Given the description of an element on the screen output the (x, y) to click on. 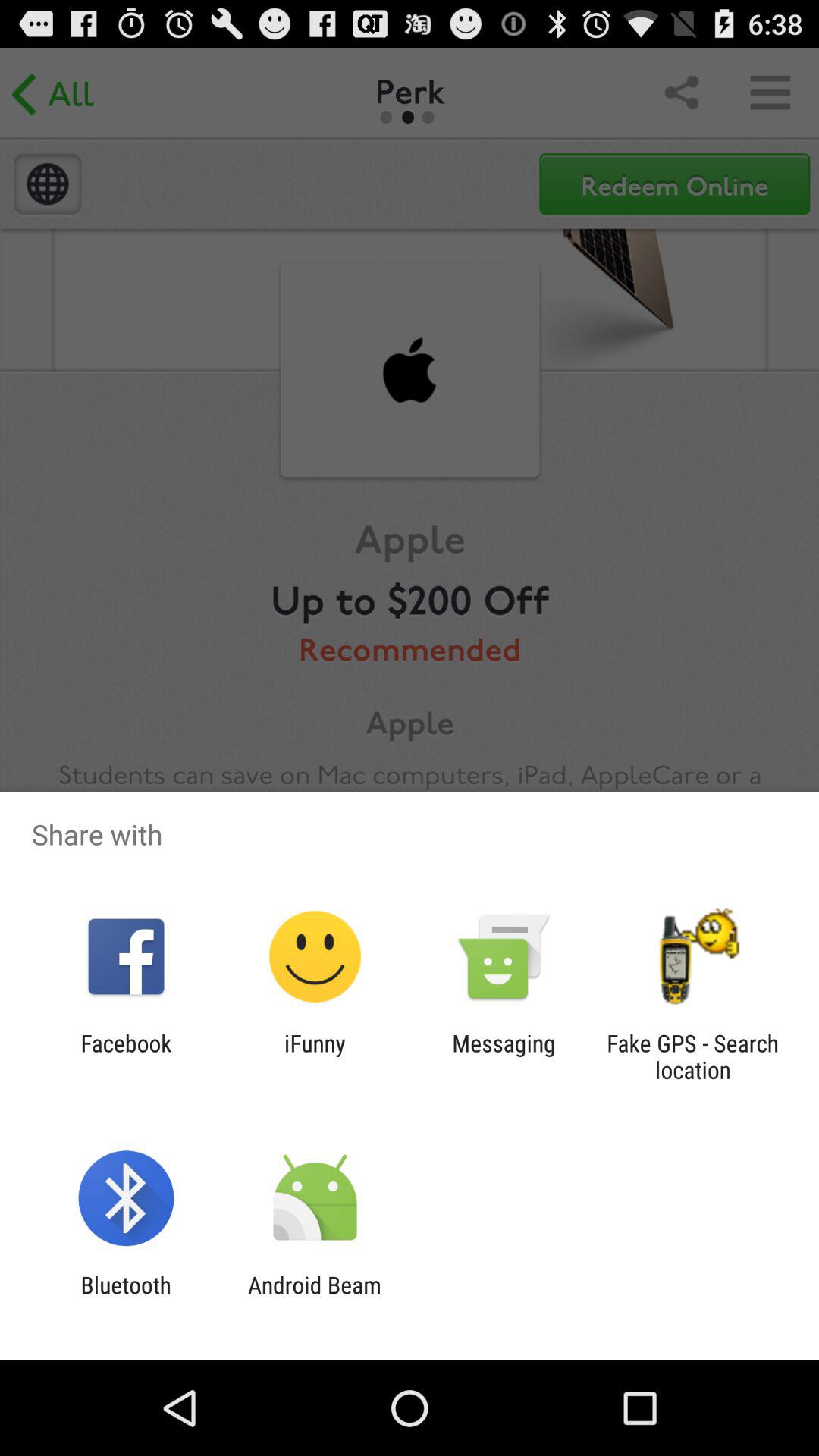
click app at the bottom right corner (692, 1056)
